Given the description of an element on the screen output the (x, y) to click on. 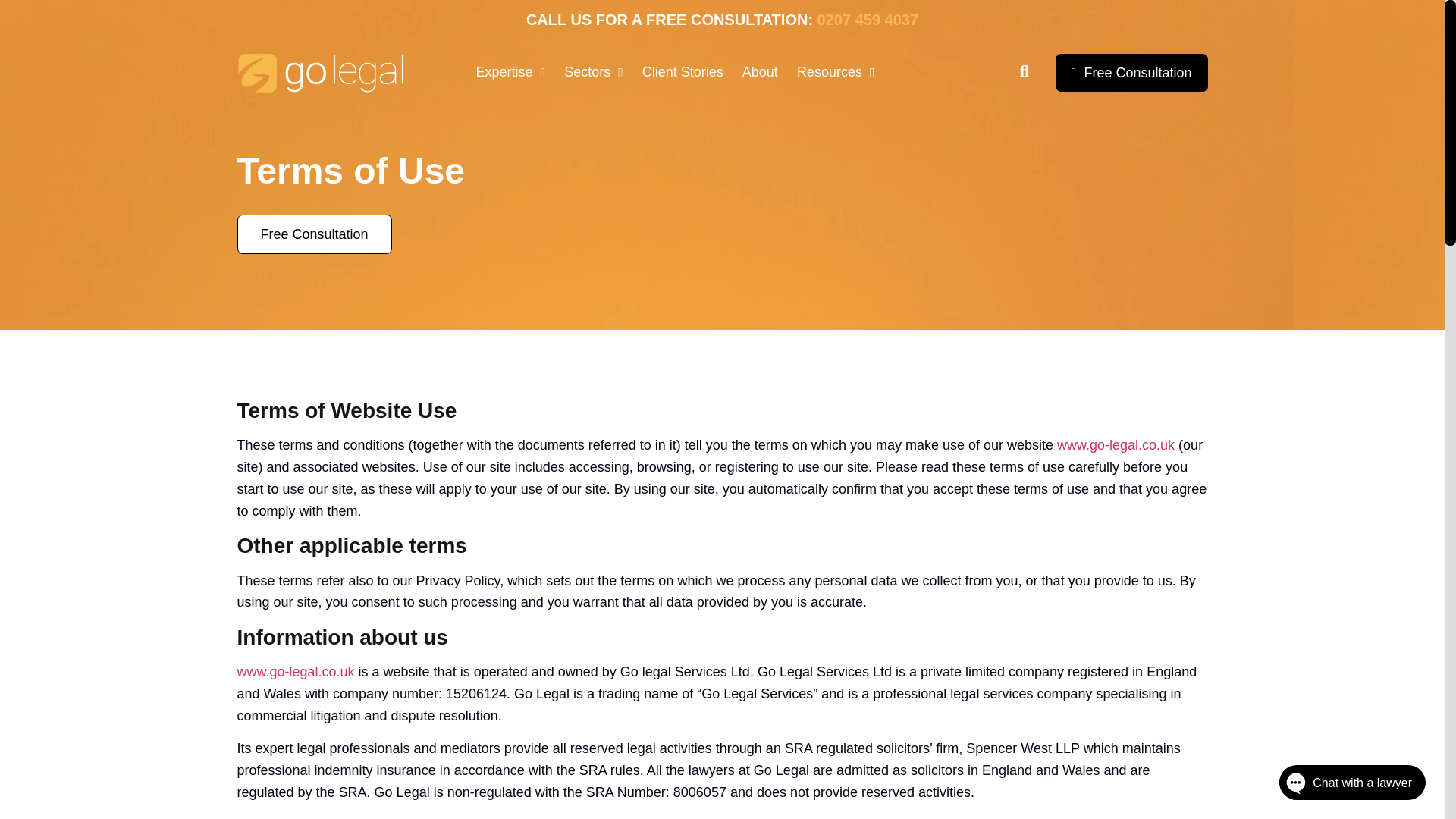
Expertise (511, 72)
Chat with a lawyer (1336, 786)
0207 459 4037 (867, 19)
